Given the description of an element on the screen output the (x, y) to click on. 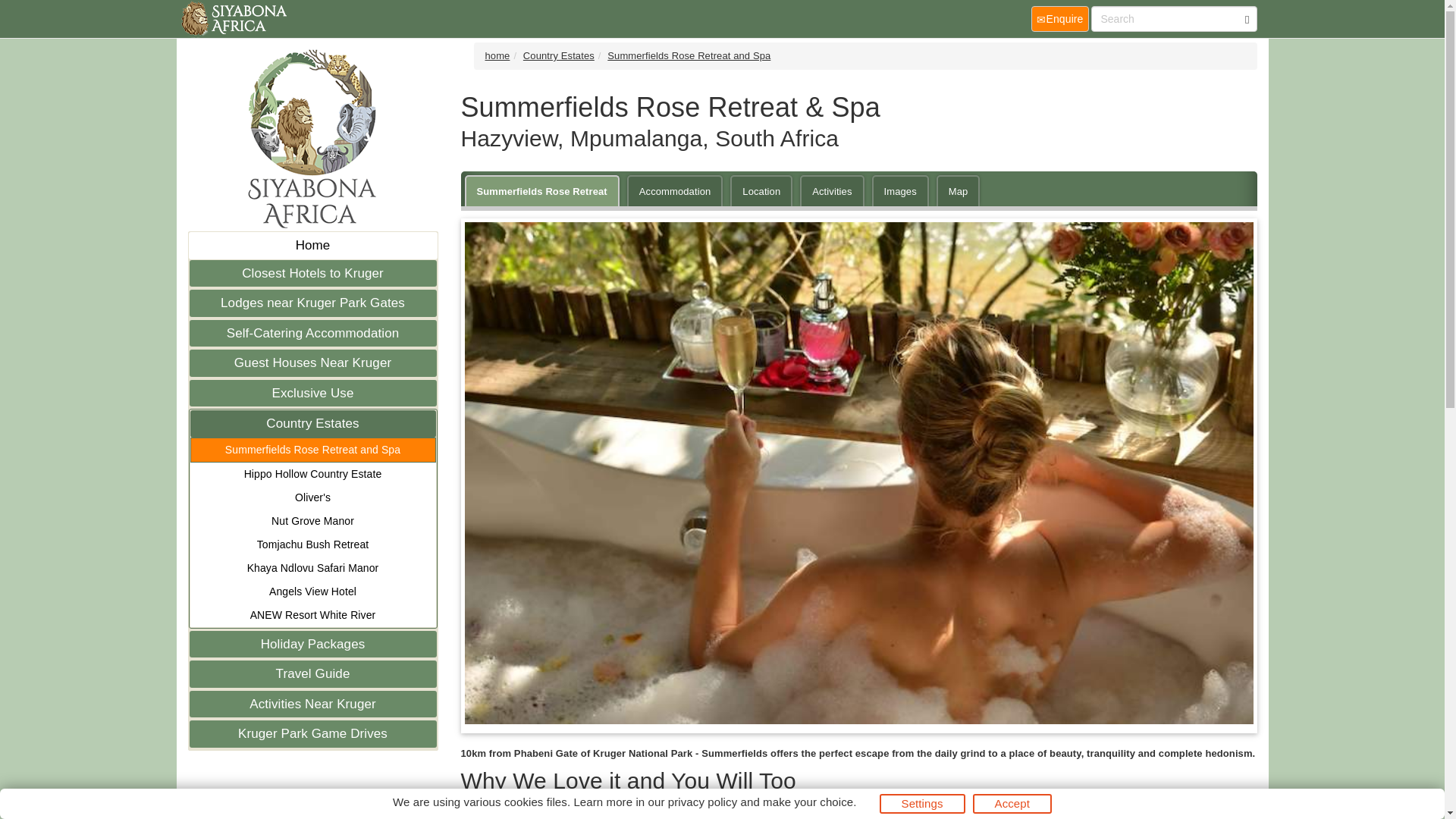
Kruger Park Game Drives (312, 733)
Lodges near Kruger Park Gates (312, 302)
Accommodation Information (675, 191)
Country Estates (312, 423)
Closest Hotels to Kruger (312, 272)
Map (957, 191)
Self-Catering Accommodation (312, 333)
Accommodation (675, 191)
View Images (900, 191)
Location Information (761, 191)
